Given the description of an element on the screen output the (x, y) to click on. 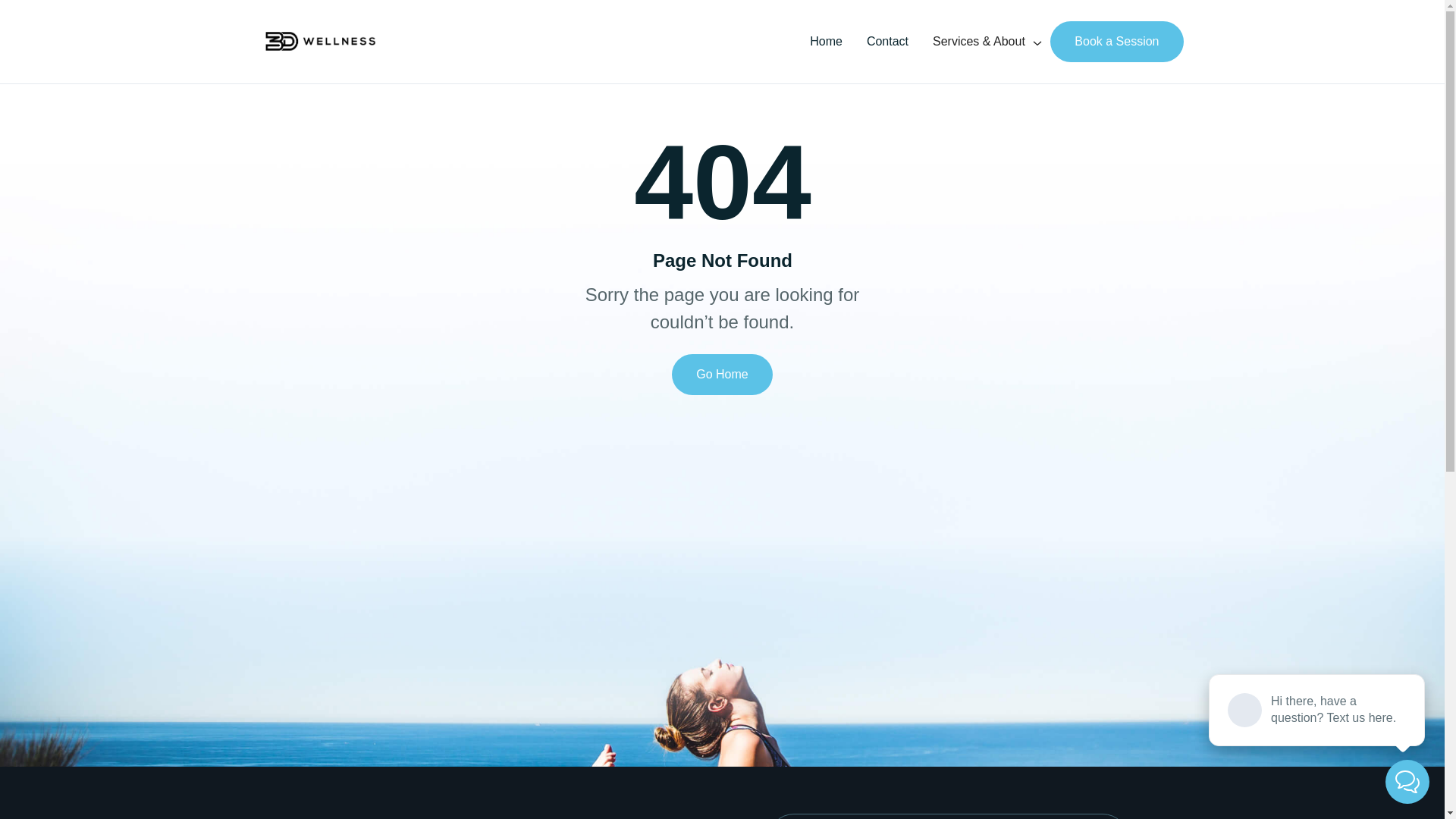
Contact Element type: text (887, 41)
Book a Session Element type: text (1116, 41)
Go Home Element type: text (721, 374)
Home Element type: text (825, 41)
